Given the description of an element on the screen output the (x, y) to click on. 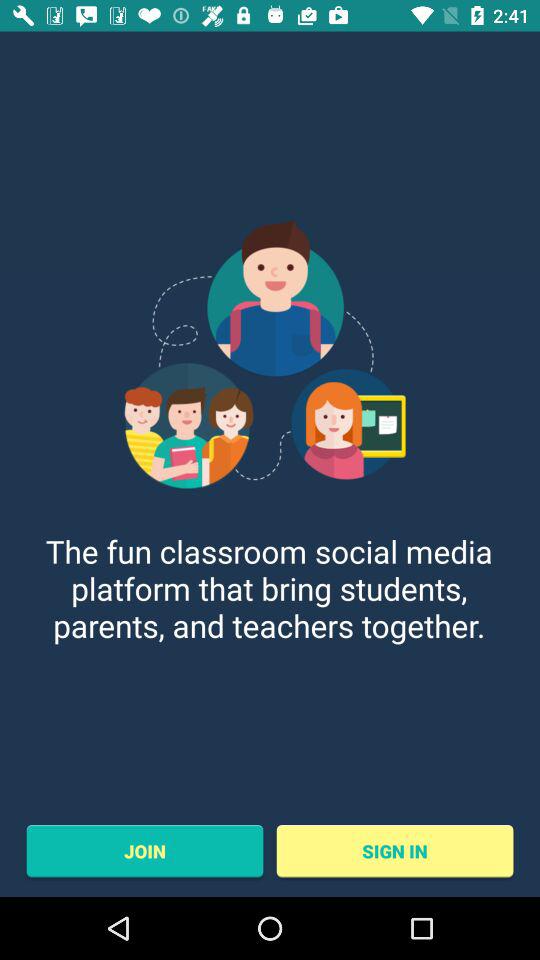
open sign in item (394, 851)
